Given the description of an element on the screen output the (x, y) to click on. 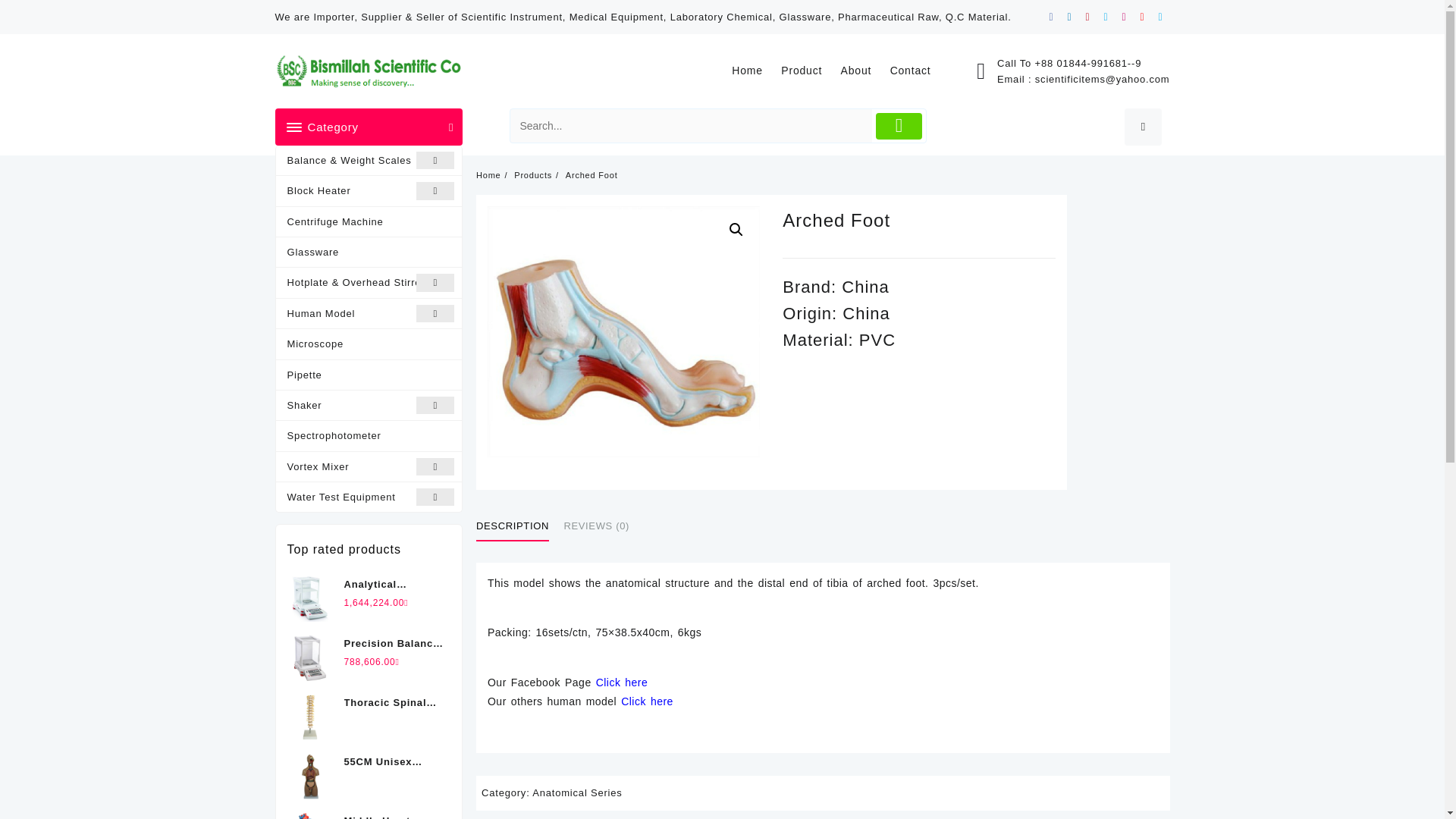
Product (808, 70)
Contact (917, 70)
About (863, 70)
Home (754, 70)
Arched Foot (623, 342)
Search (691, 125)
